Given the description of an element on the screen output the (x, y) to click on. 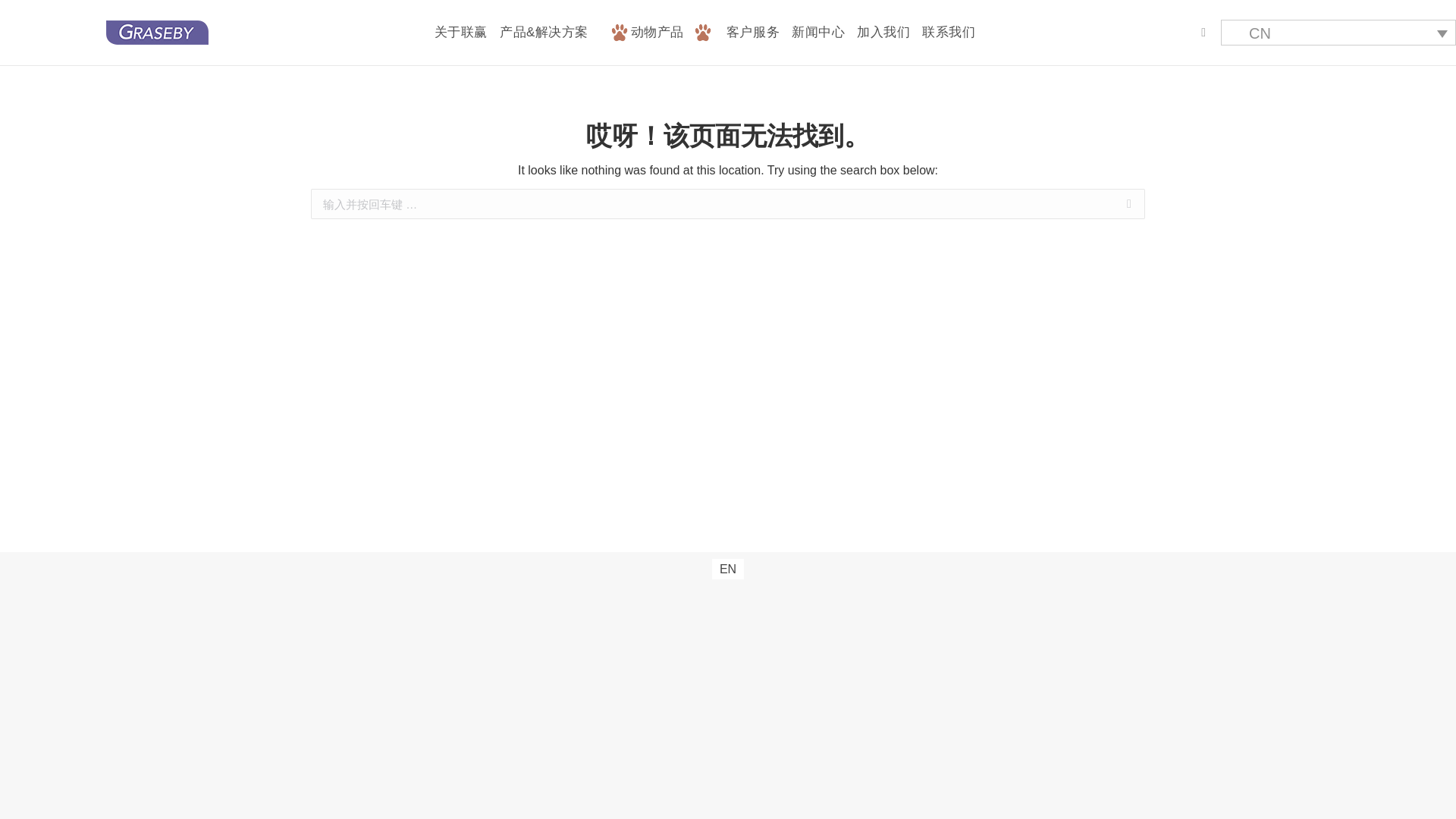
Go! (1168, 205)
Go! (24, 16)
Go! (1168, 205)
